Given the description of an element on the screen output the (x, y) to click on. 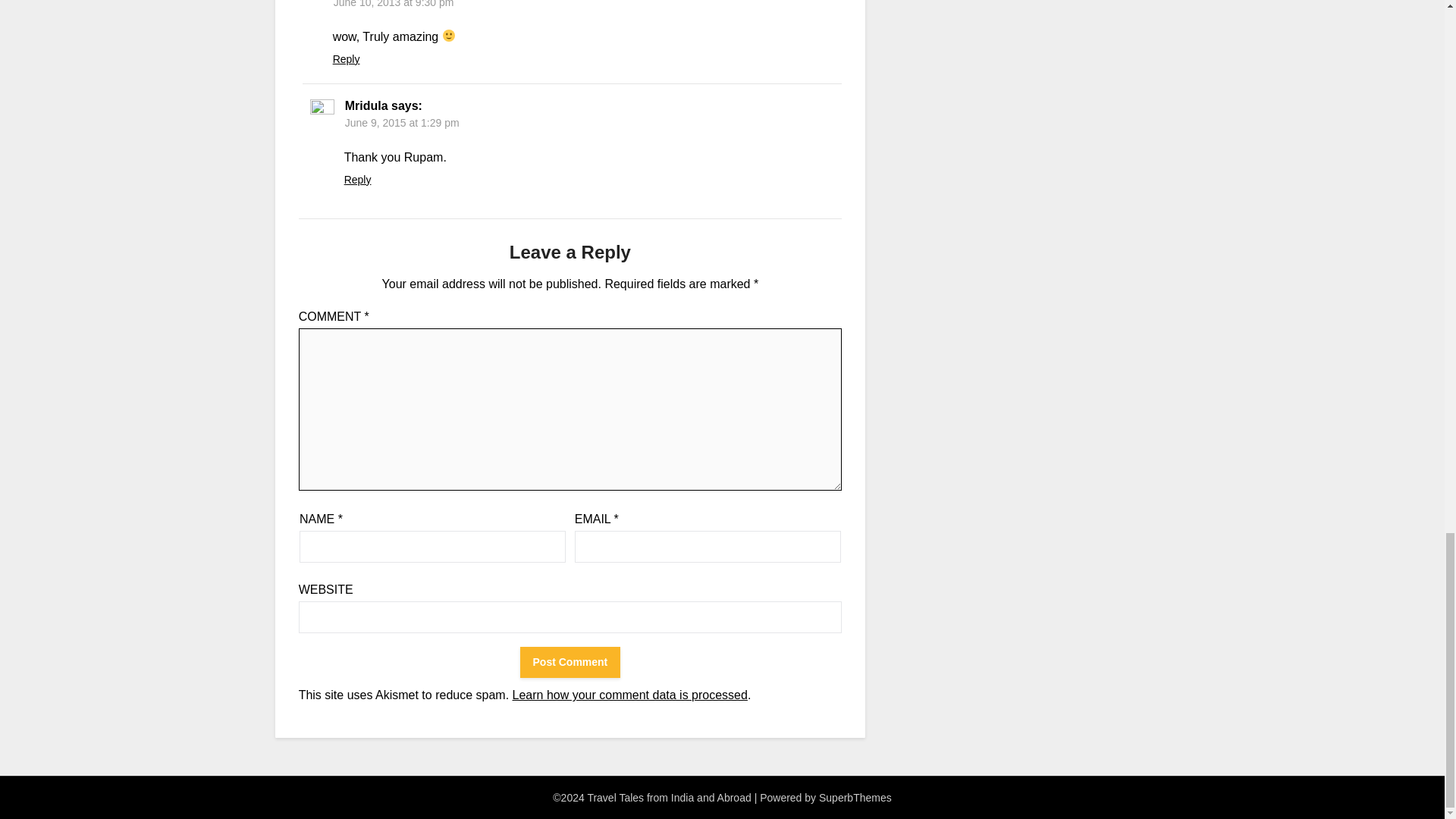
Reply (346, 59)
Post Comment (570, 662)
SuperbThemes (854, 797)
Learn how your comment data is processed (630, 694)
Reply (357, 179)
Post Comment (570, 662)
June 10, 2013 at 9:30 pm (393, 4)
June 9, 2015 at 1:29 pm (402, 122)
